Given the description of an element on the screen output the (x, y) to click on. 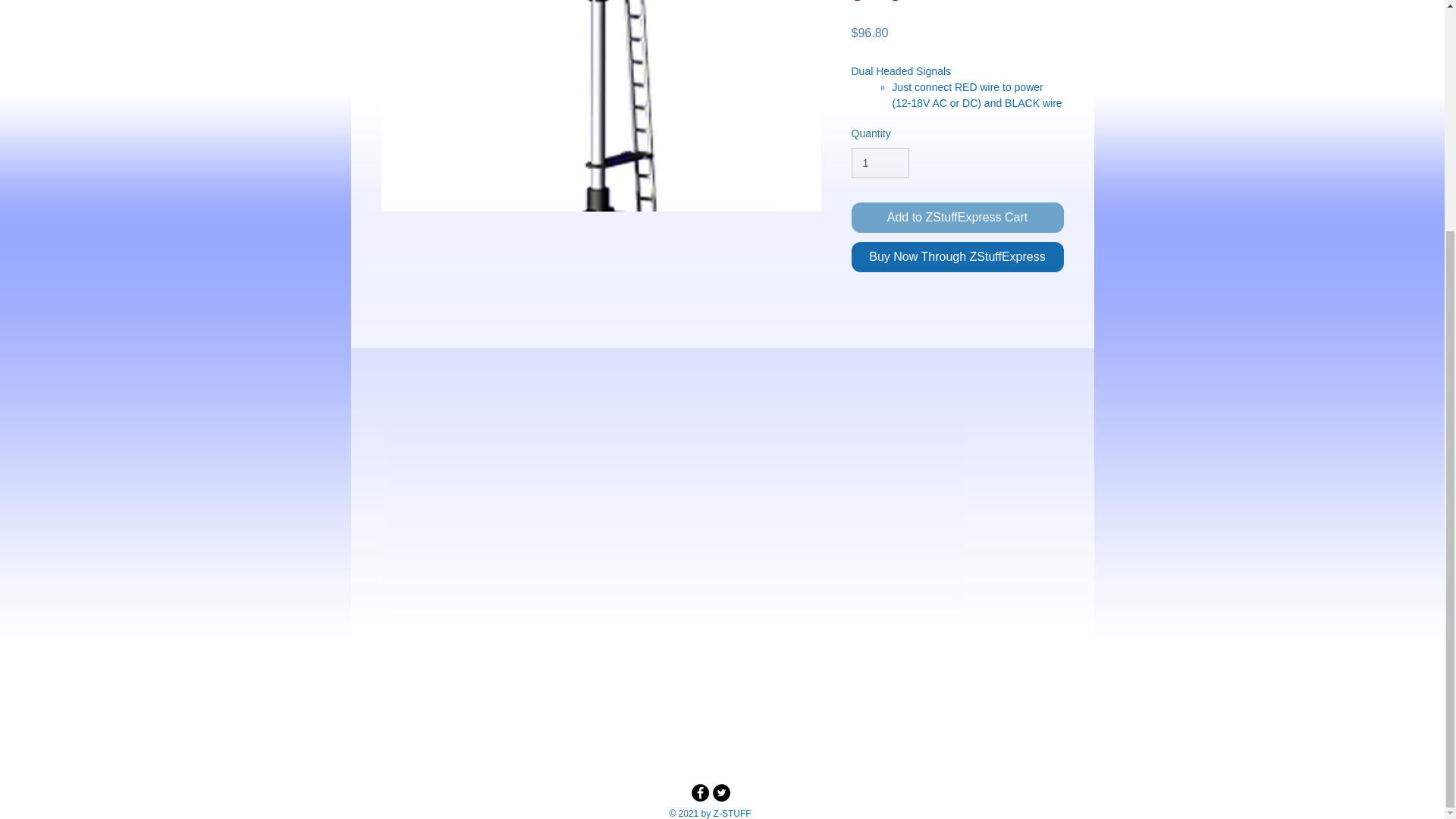
Add to ZStuffExpress Cart (956, 217)
1 (879, 163)
Buy Now Through ZStuffExpress (956, 256)
